Given the description of an element on the screen output the (x, y) to click on. 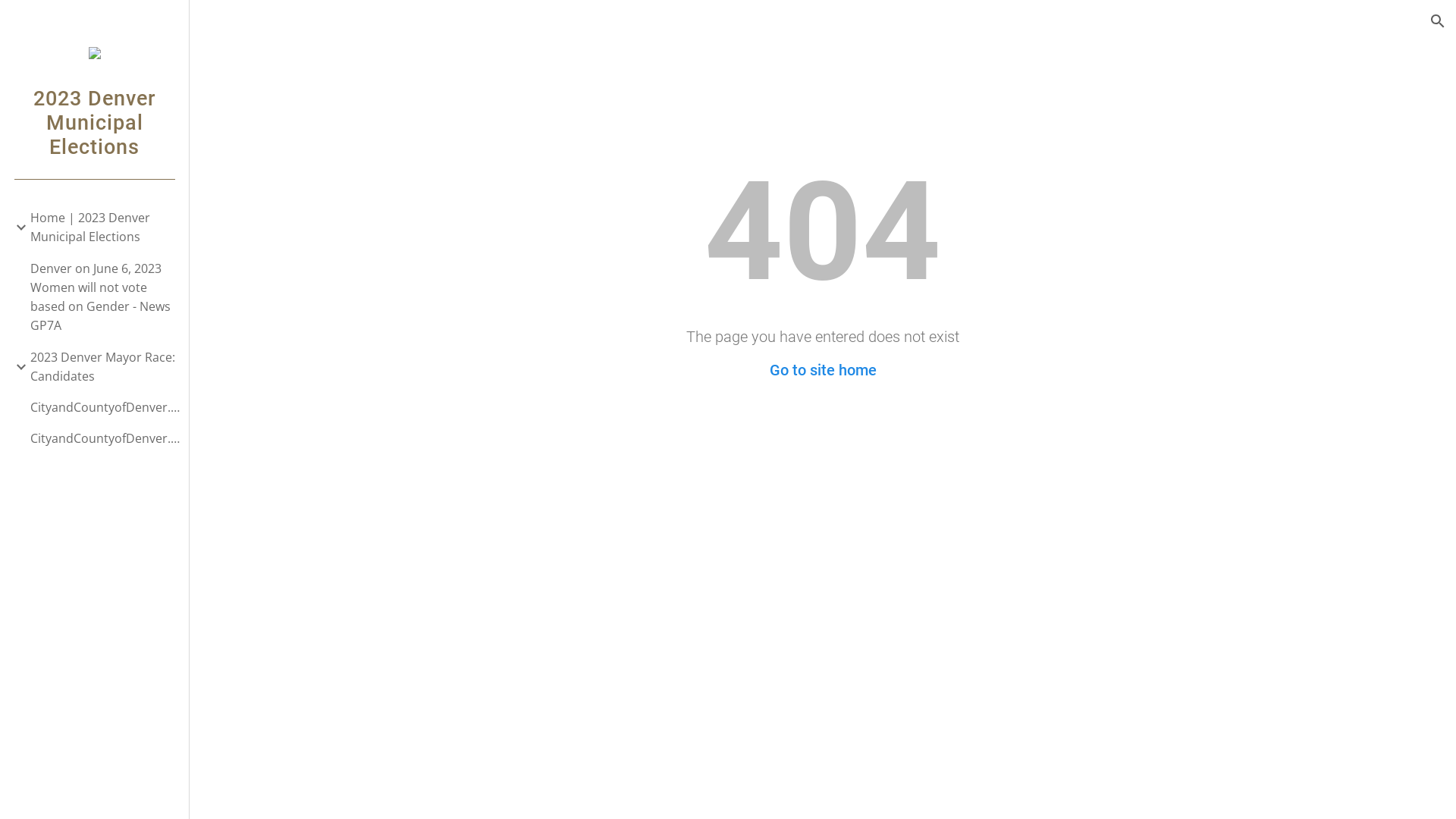
Go to site home Element type: text (821, 369)
Expand/Collapse Element type: hover (16, 227)
Home | 2023 Denver Municipal Elections Element type: text (103, 227)
2023 Denver Mayor Race: Candidates Element type: text (103, 367)
2023 Denver Municipal Elections Element type: text (94, 141)
CityandCountyofDenver.com Element type: text (103, 407)
CityandCountyofDenver.US Element type: text (103, 438)
Expand/Collapse Element type: hover (16, 366)
